Given the description of an element on the screen output the (x, y) to click on. 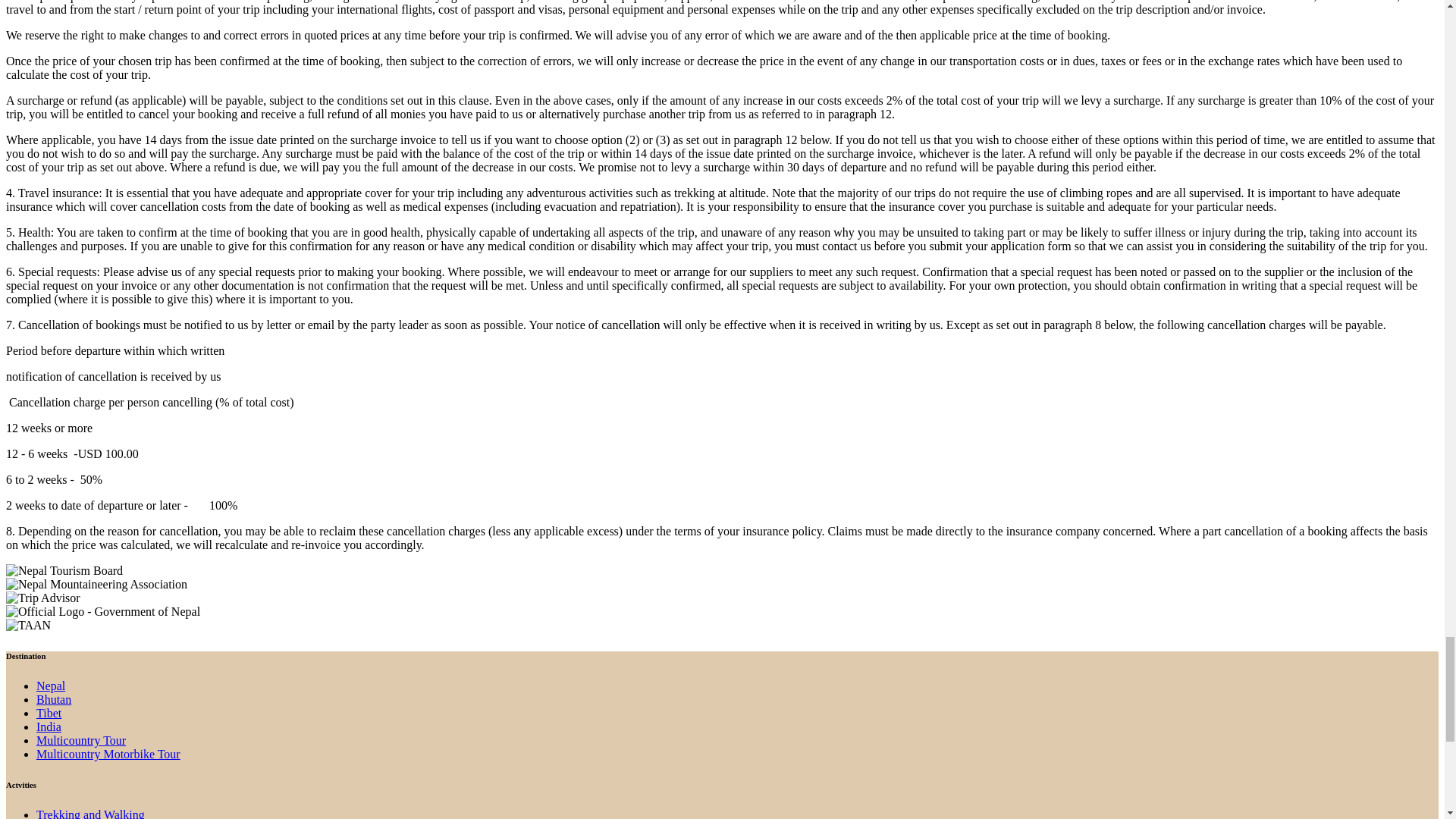
Goverment of Nepal (102, 612)
Multicountry Tour (80, 739)
Nepal Tourism Board (63, 571)
Bhutan (53, 698)
Trip Advisor (42, 598)
Nepal Mountaineering Association of Nepal (96, 584)
Tibet (48, 712)
Multicountry Motorbike Tour (108, 753)
Nepal (50, 685)
India (48, 726)
Trekking Agencies Association of Nepal (27, 625)
Trekking and Walking (90, 813)
